Given the description of an element on the screen output the (x, y) to click on. 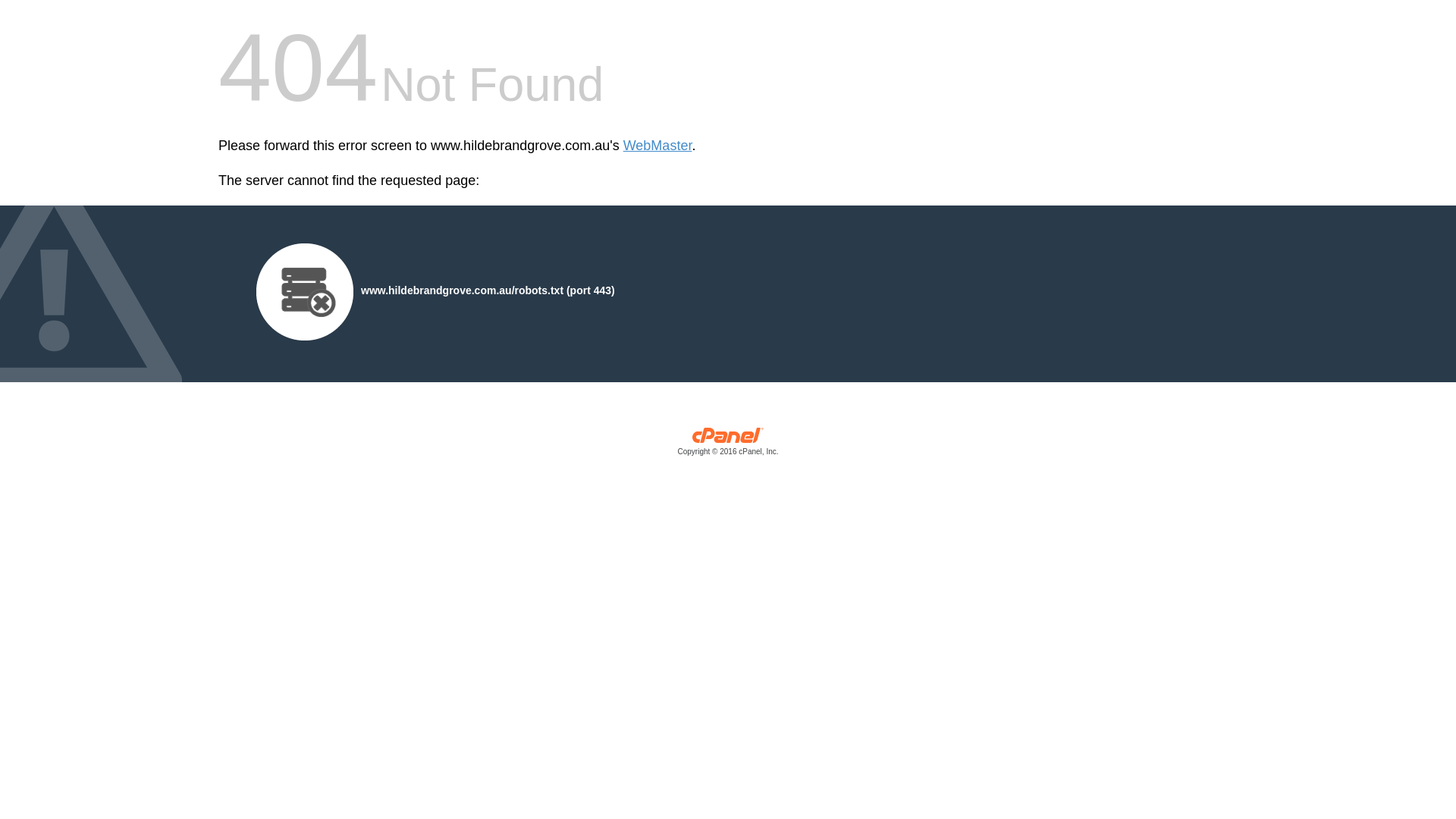
WebMaster Element type: text (657, 145)
